Given the description of an element on the screen output the (x, y) to click on. 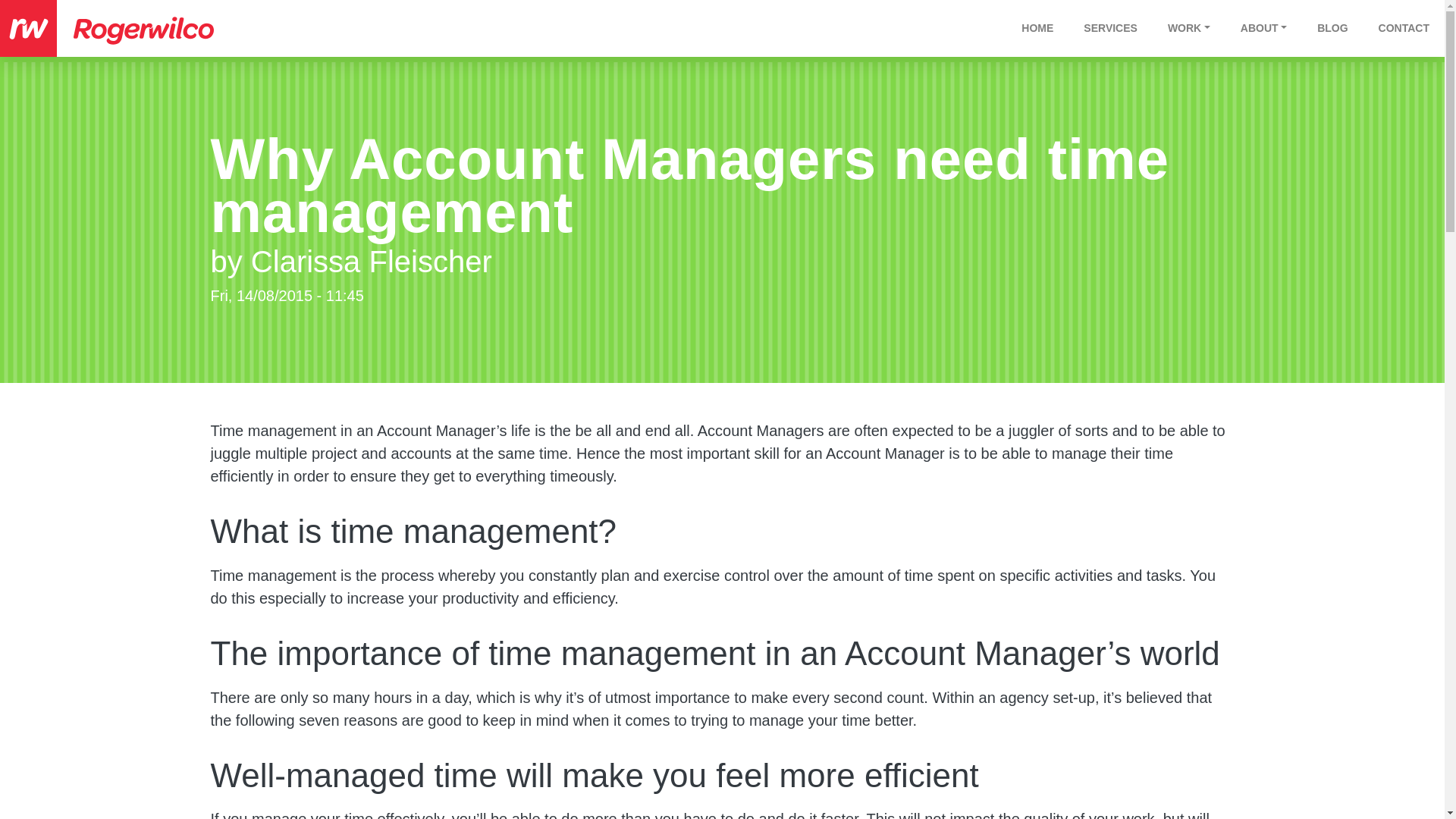
SERVICES (1110, 28)
Home (28, 28)
Home (167, 28)
Clarissa Fleischer (371, 261)
CONTACT (1403, 28)
View user profile. (371, 261)
